Given the description of an element on the screen output the (x, y) to click on. 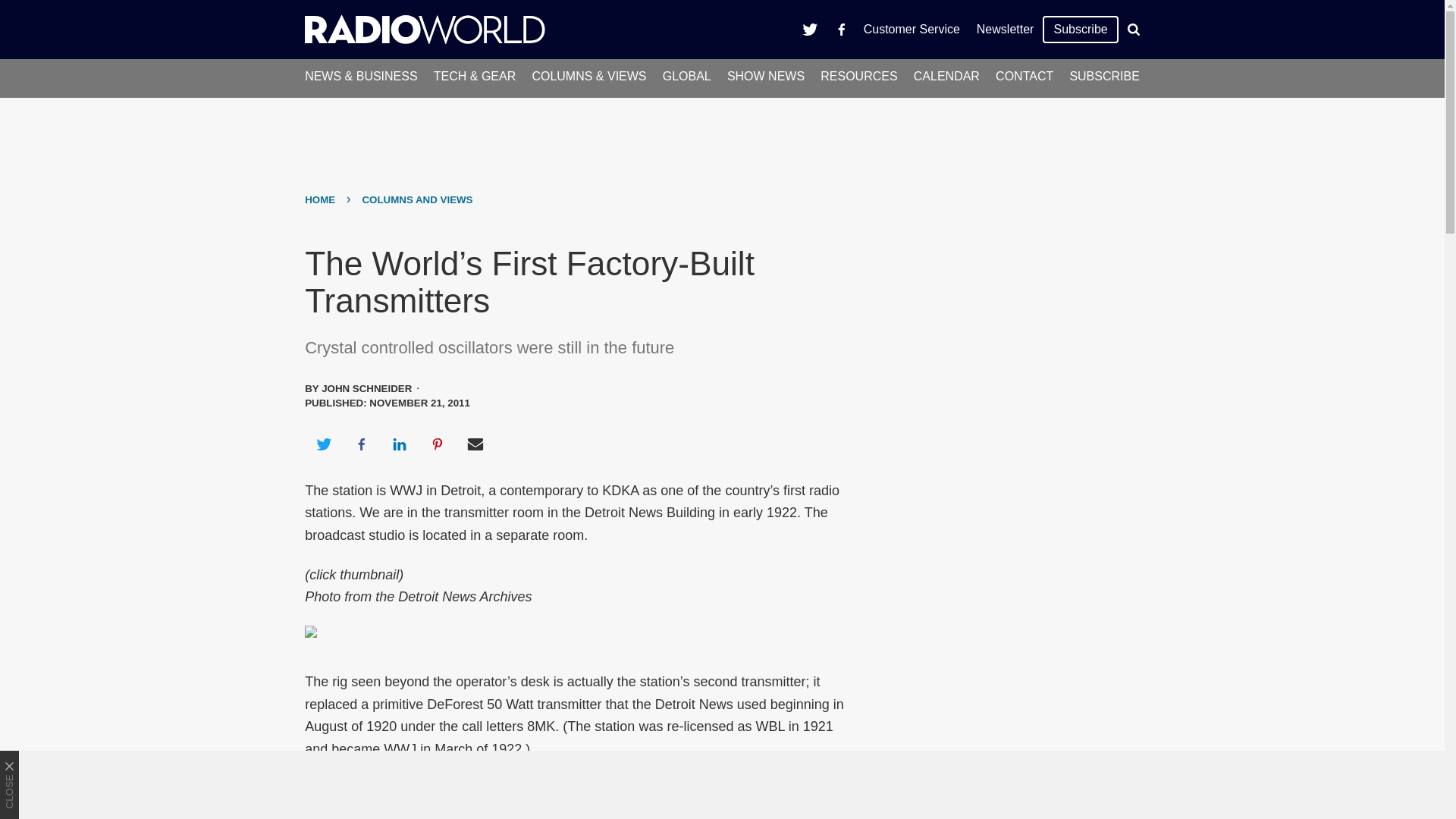
Share on Pinterest (438, 444)
Share on LinkedIn (399, 444)
Share on Twitter (323, 444)
Share via Email (476, 444)
Share on Facebook (361, 444)
Customer Service (912, 29)
